Given the description of an element on the screen output the (x, y) to click on. 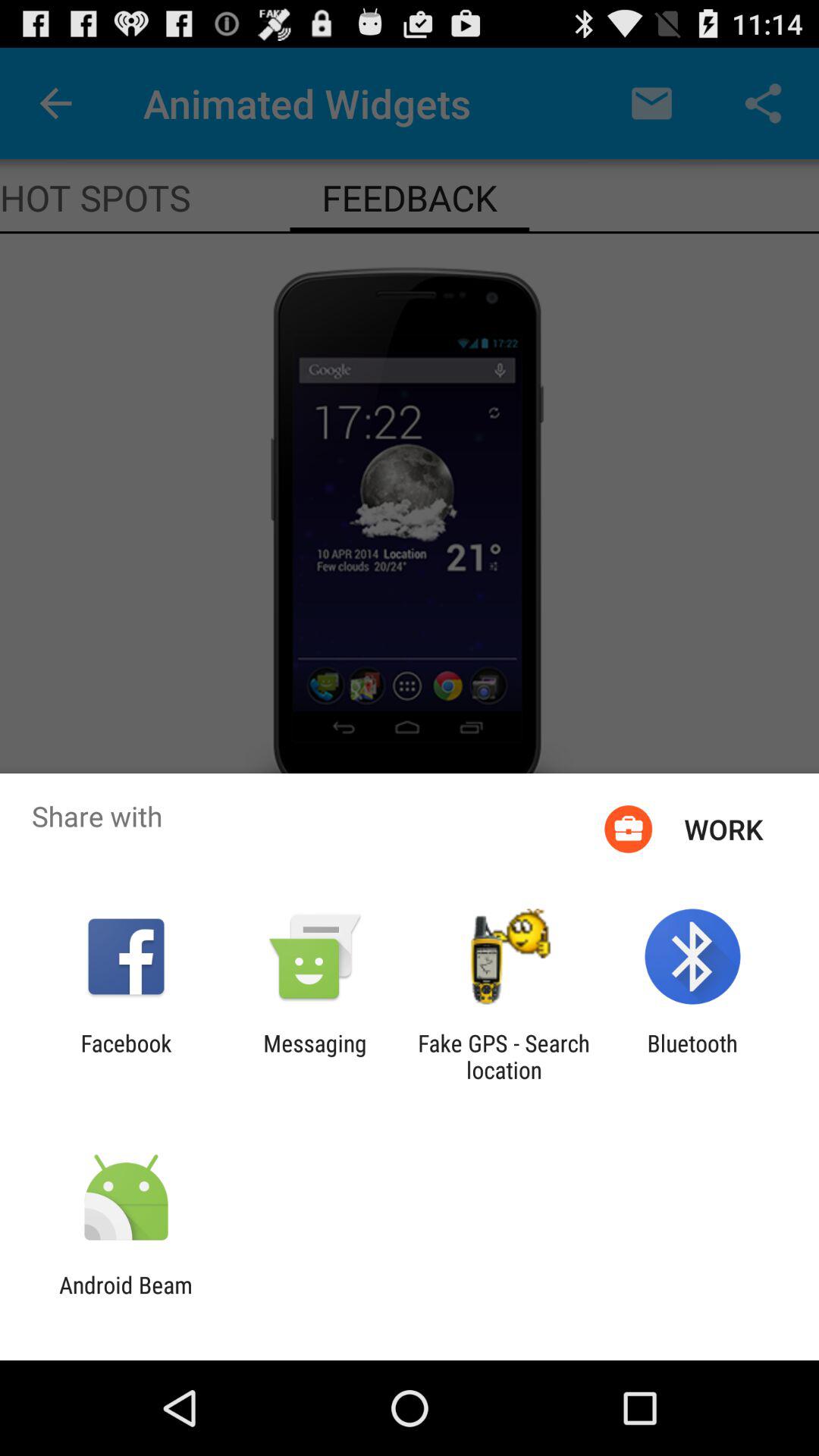
tap item next to facebook (314, 1056)
